Given the description of an element on the screen output the (x, y) to click on. 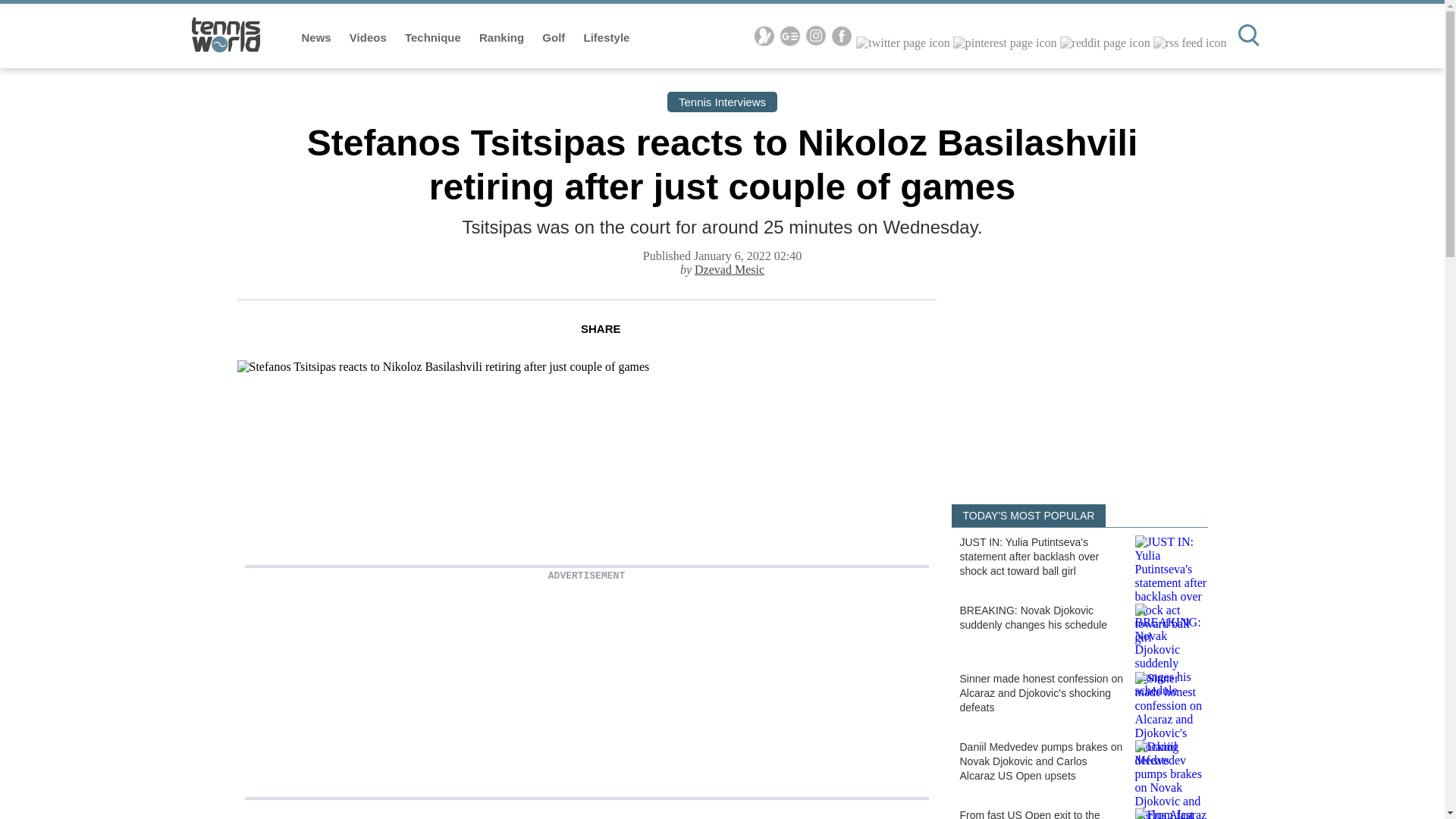
Golf (554, 37)
News (317, 37)
Technique (434, 37)
Videos (369, 37)
Lifestyle (606, 37)
Ranking (503, 37)
